Given the description of an element on the screen output the (x, y) to click on. 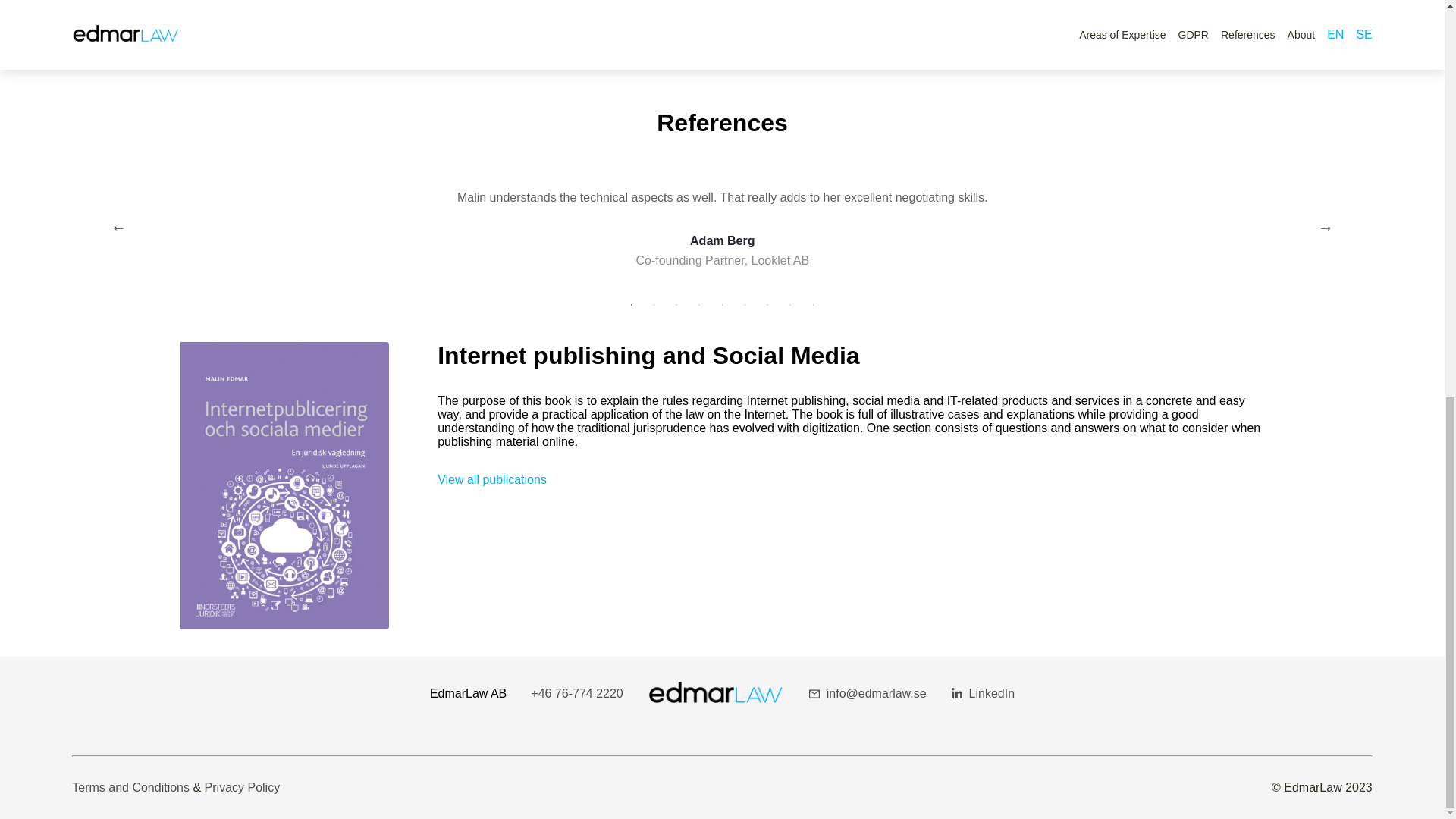
Design Law (344, 6)
Telecom Law (721, 6)
8 (790, 304)
4 (698, 304)
1 (631, 304)
2 (653, 304)
Privacy Policy (243, 787)
Previous (119, 227)
3 (676, 304)
7 (767, 304)
